Given the description of an element on the screen output the (x, y) to click on. 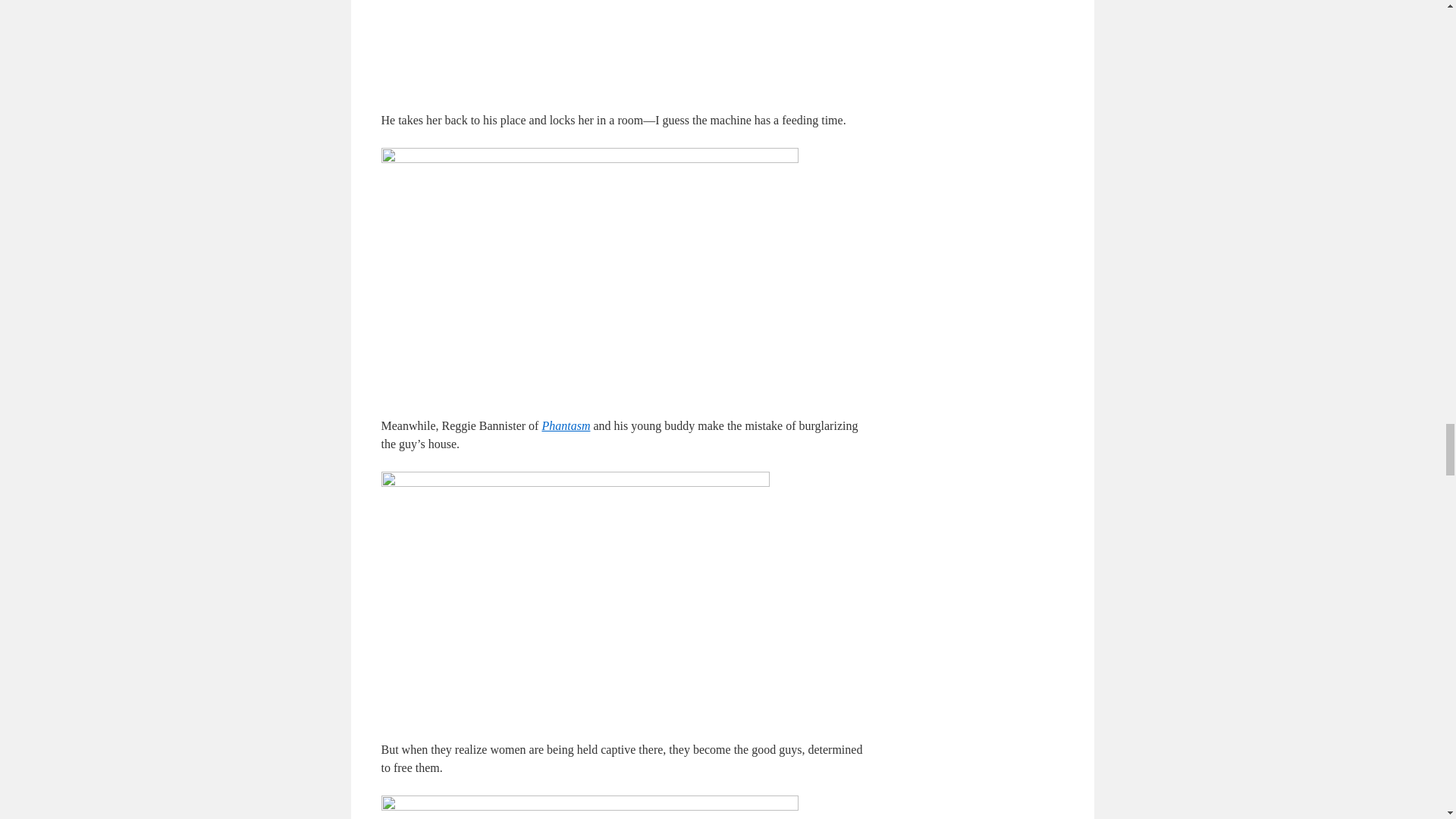
Phantasm (565, 425)
